Given the description of an element on the screen output the (x, y) to click on. 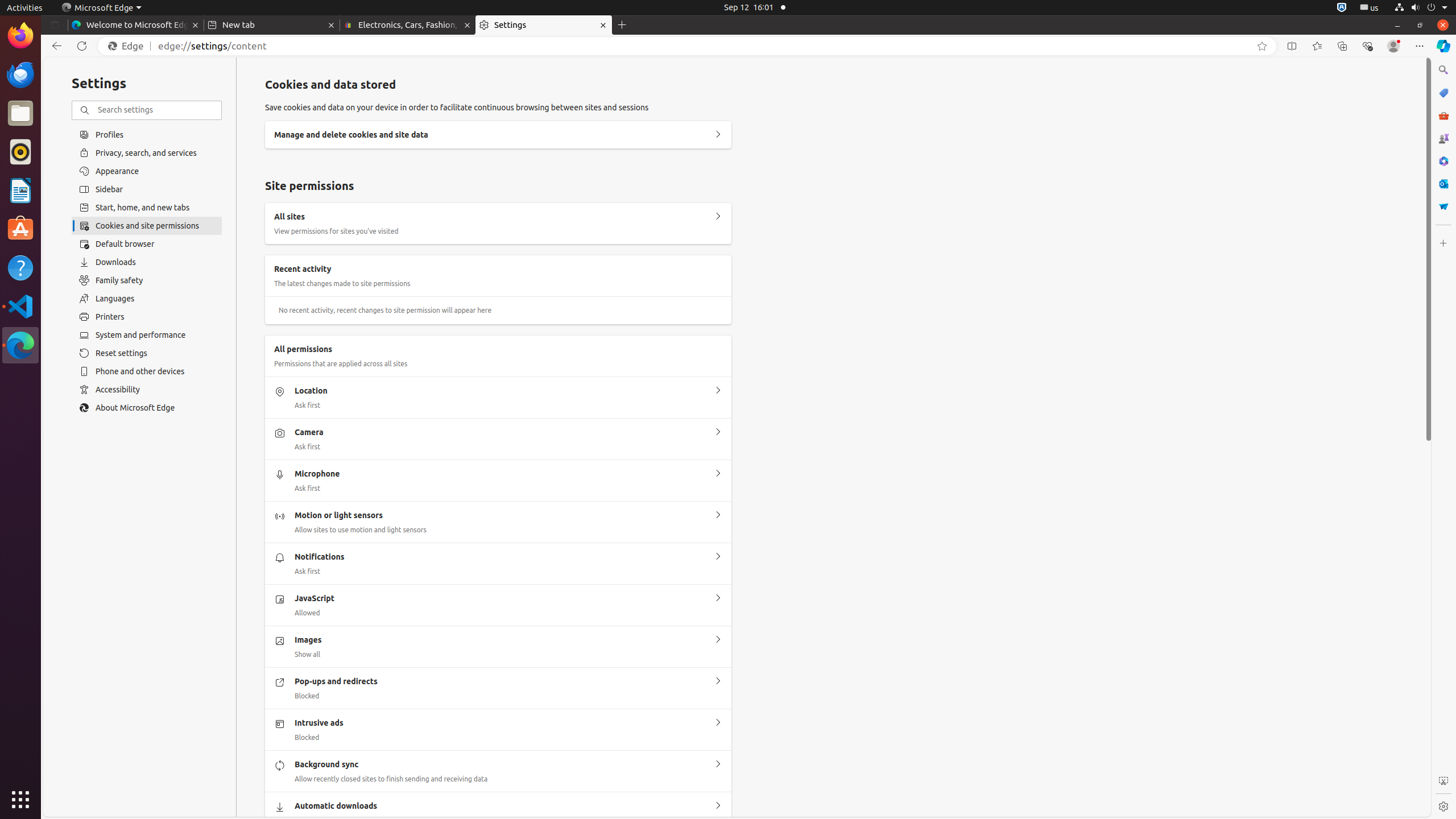
Manage and delete cookies and site data Element type: push-button (717, 134)
Downloads Element type: tree-item (146, 262)
Location Element type: push-button (717, 390)
All sites Element type: push-button (717, 216)
Files Element type: push-button (20, 113)
